Given the description of an element on the screen output the (x, y) to click on. 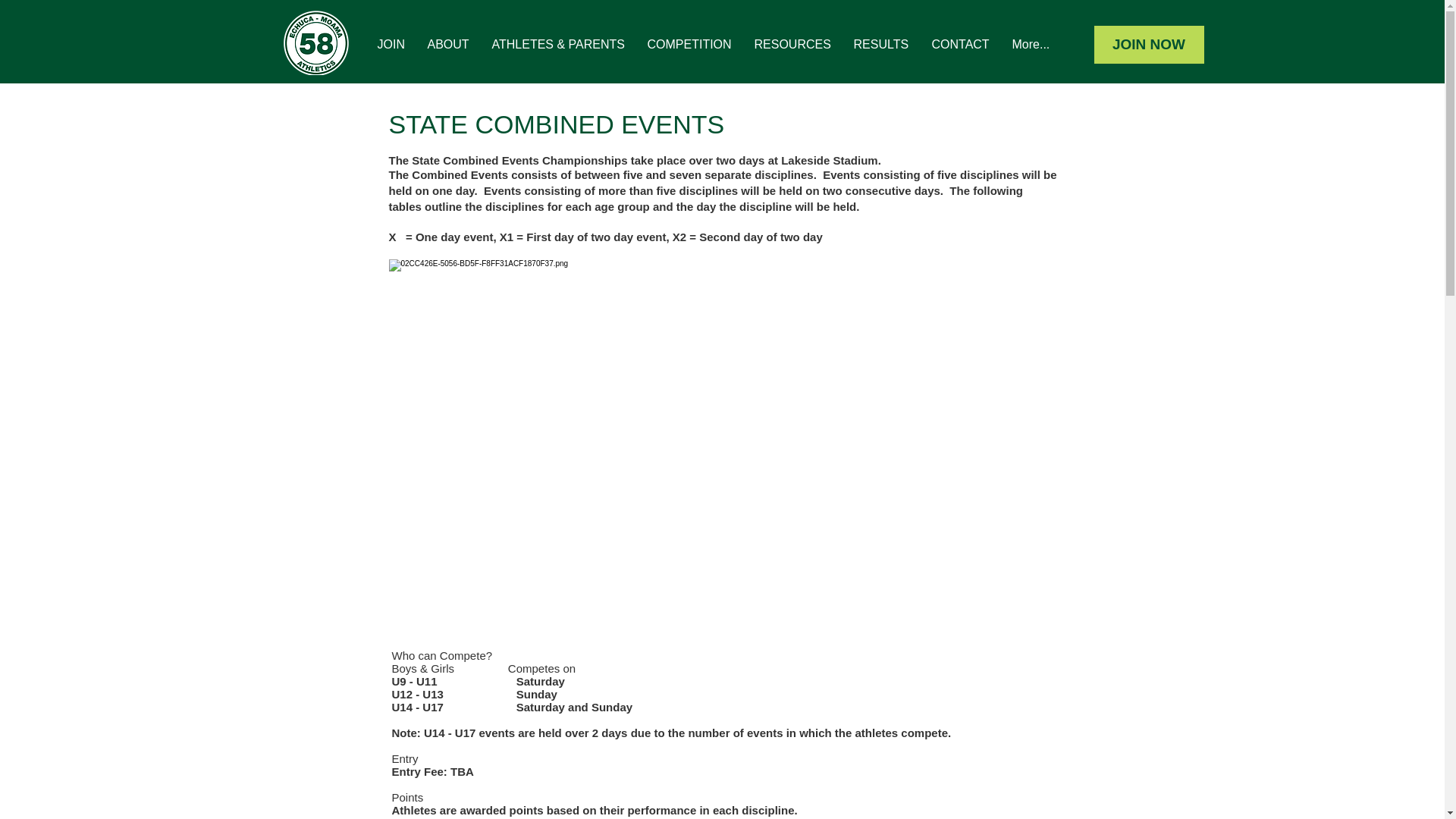
RESULTS (880, 44)
JOIN NOW (1148, 44)
JOIN (389, 44)
CONTACT (960, 44)
